Given the description of an element on the screen output the (x, y) to click on. 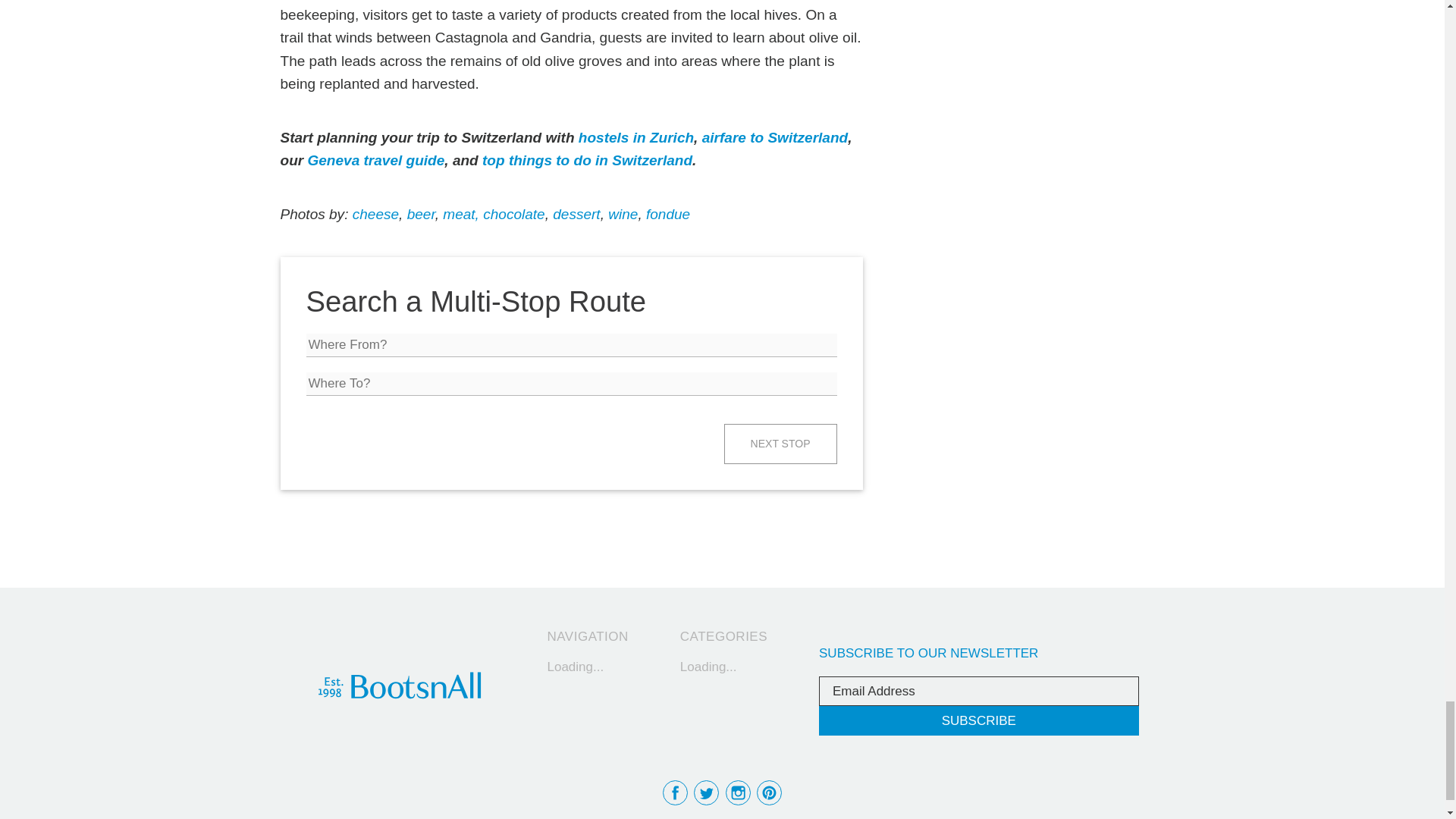
beer (421, 213)
Geneva travel guide (375, 160)
top things to do in Switzerland (587, 160)
NEXT STOP (780, 444)
airfare to Switzerland (774, 137)
meat, (459, 213)
chocolate (513, 213)
dessert (576, 213)
hostels in Zurich (636, 137)
cheese (375, 213)
SUBSCRIBE (978, 720)
wine (622, 213)
fondue (668, 213)
